Given the description of an element on the screen output the (x, y) to click on. 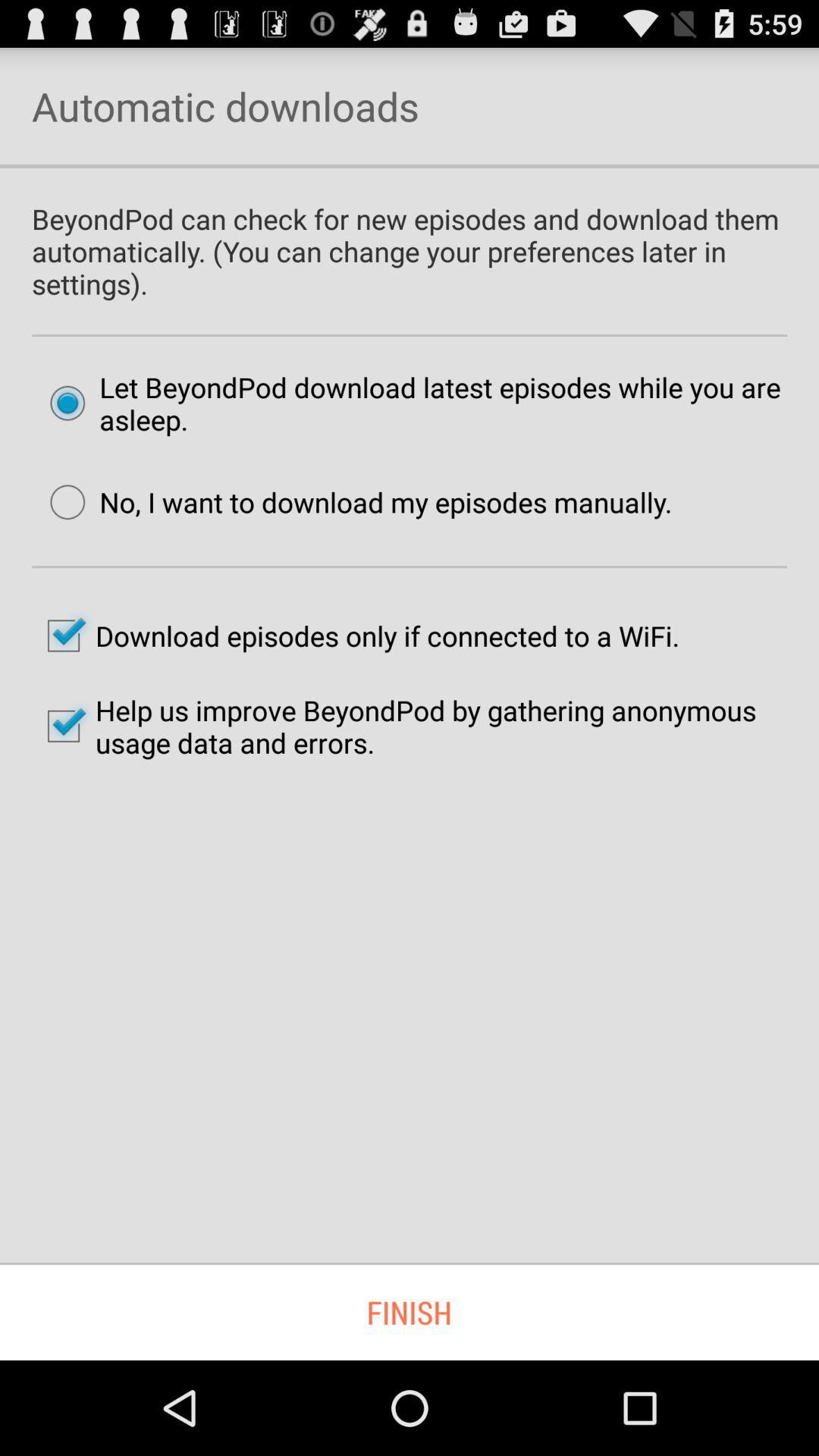
open help us improve icon (409, 726)
